Given the description of an element on the screen output the (x, y) to click on. 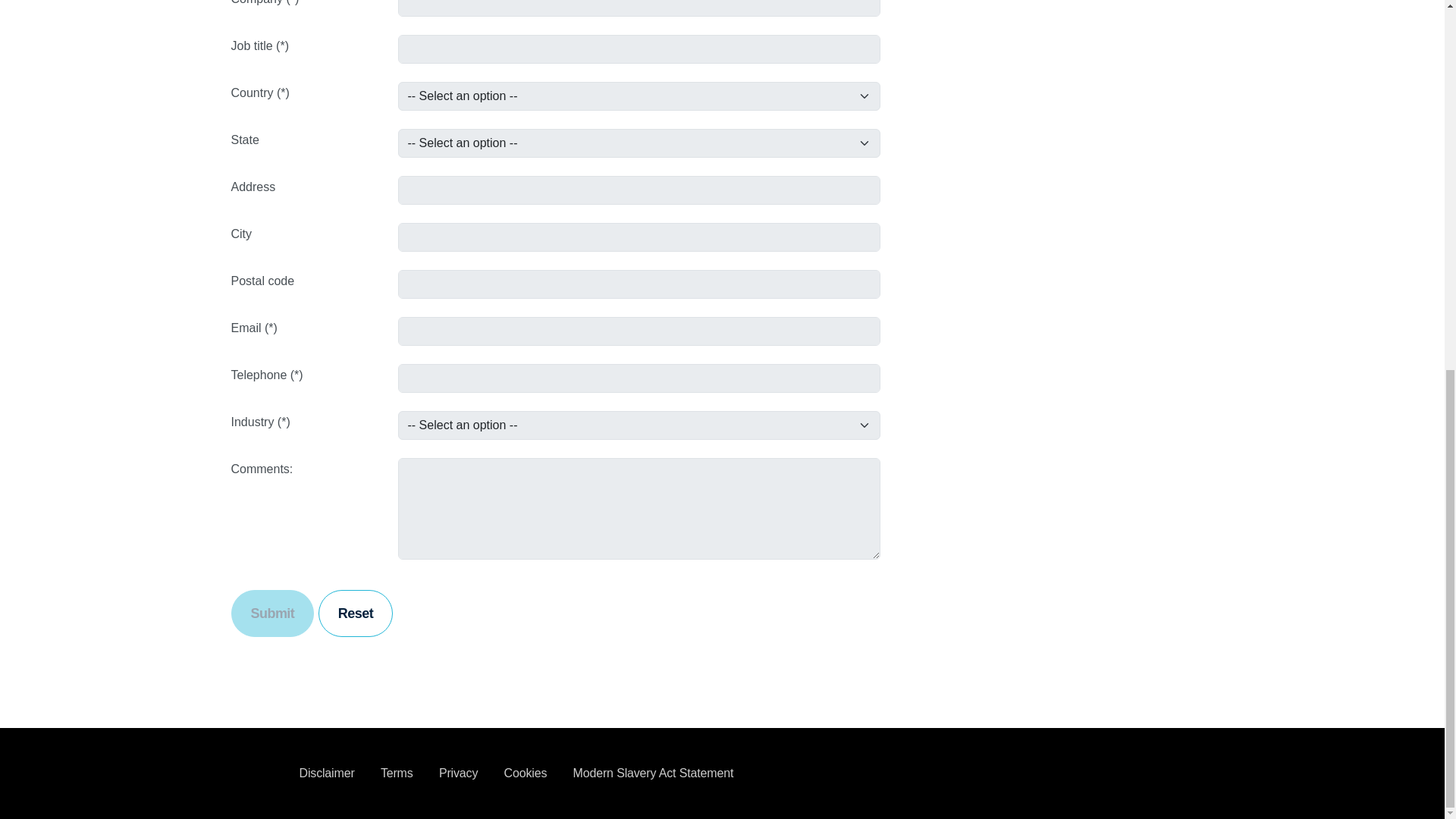
Reset (355, 613)
Intertek Intertek Brand Roundel Logo (253, 773)
